Given the description of an element on the screen output the (x, y) to click on. 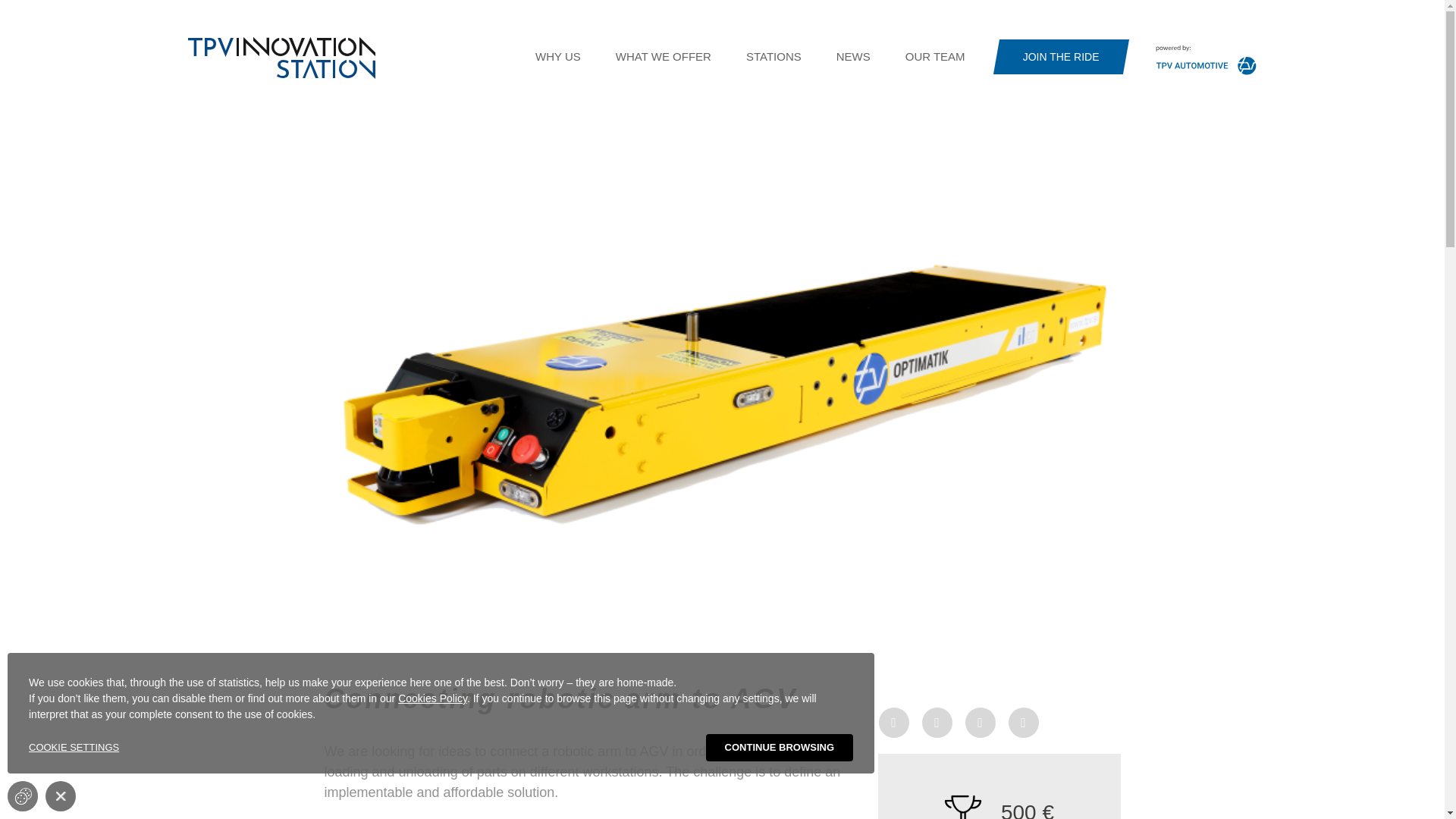
Cookies Policy (432, 698)
Connecting robotic arm to AGV (560, 698)
Permanent Link: Connecting robotic arm to AGV (560, 698)
JOIN THE RIDE (1061, 56)
WHAT WE OFFER (662, 56)
